Given the description of an element on the screen output the (x, y) to click on. 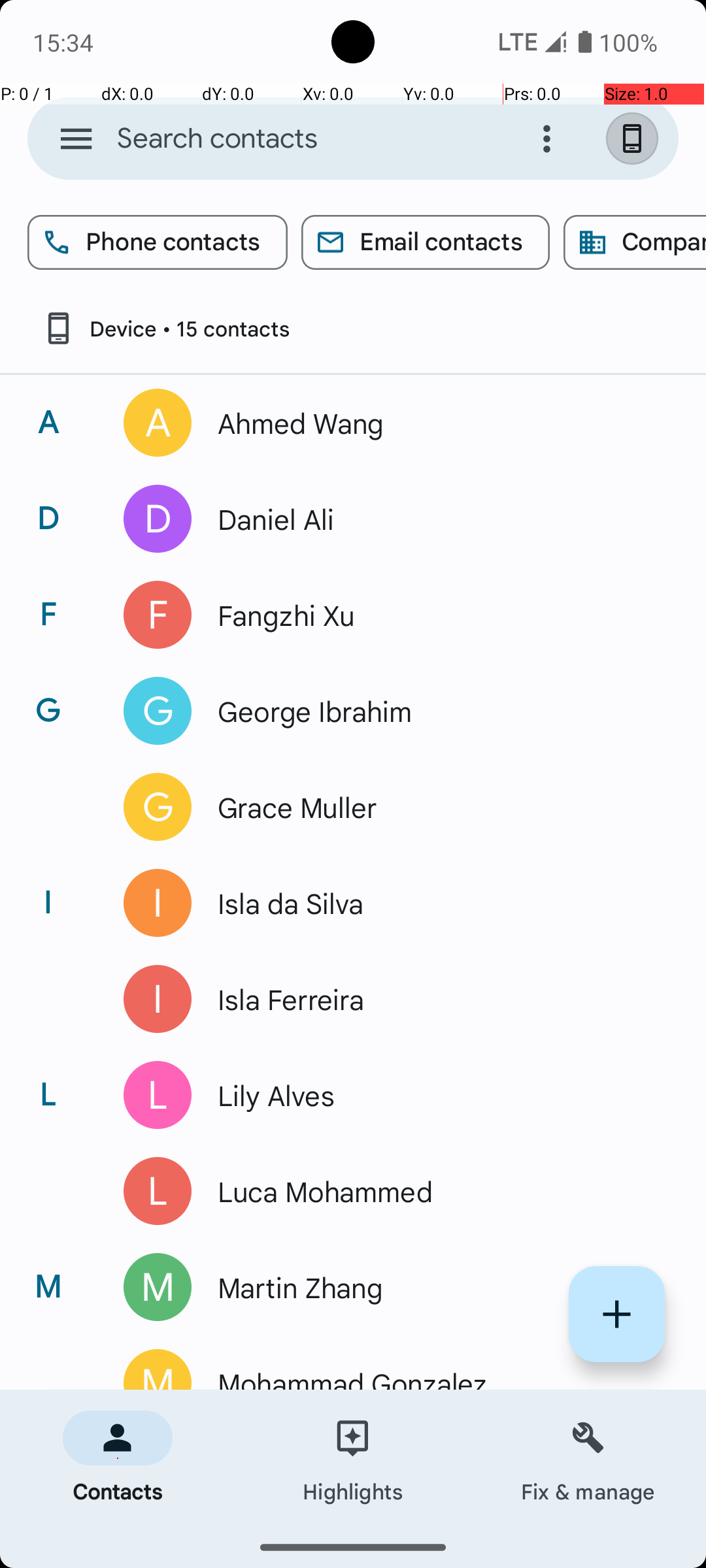
Device • 15 contacts Element type: android.widget.TextView (165, 328)
Ahmed Wang Element type: android.widget.TextView (434, 422)
Daniel Ali Element type: android.widget.TextView (434, 518)
Fangzhi Xu Element type: android.widget.TextView (434, 614)
George Ibrahim Element type: android.widget.TextView (434, 710)
Grace Muller Element type: android.widget.TextView (434, 806)
Isla da Silva Element type: android.widget.TextView (434, 902)
Isla Ferreira Element type: android.widget.TextView (434, 998)
Lily Alves Element type: android.widget.TextView (434, 1094)
Luca Mohammed Element type: android.widget.TextView (434, 1190)
Martin Zhang Element type: android.widget.TextView (434, 1286)
Mohammad Gonzalez Element type: android.widget.TextView (434, 1376)
